Given the description of an element on the screen output the (x, y) to click on. 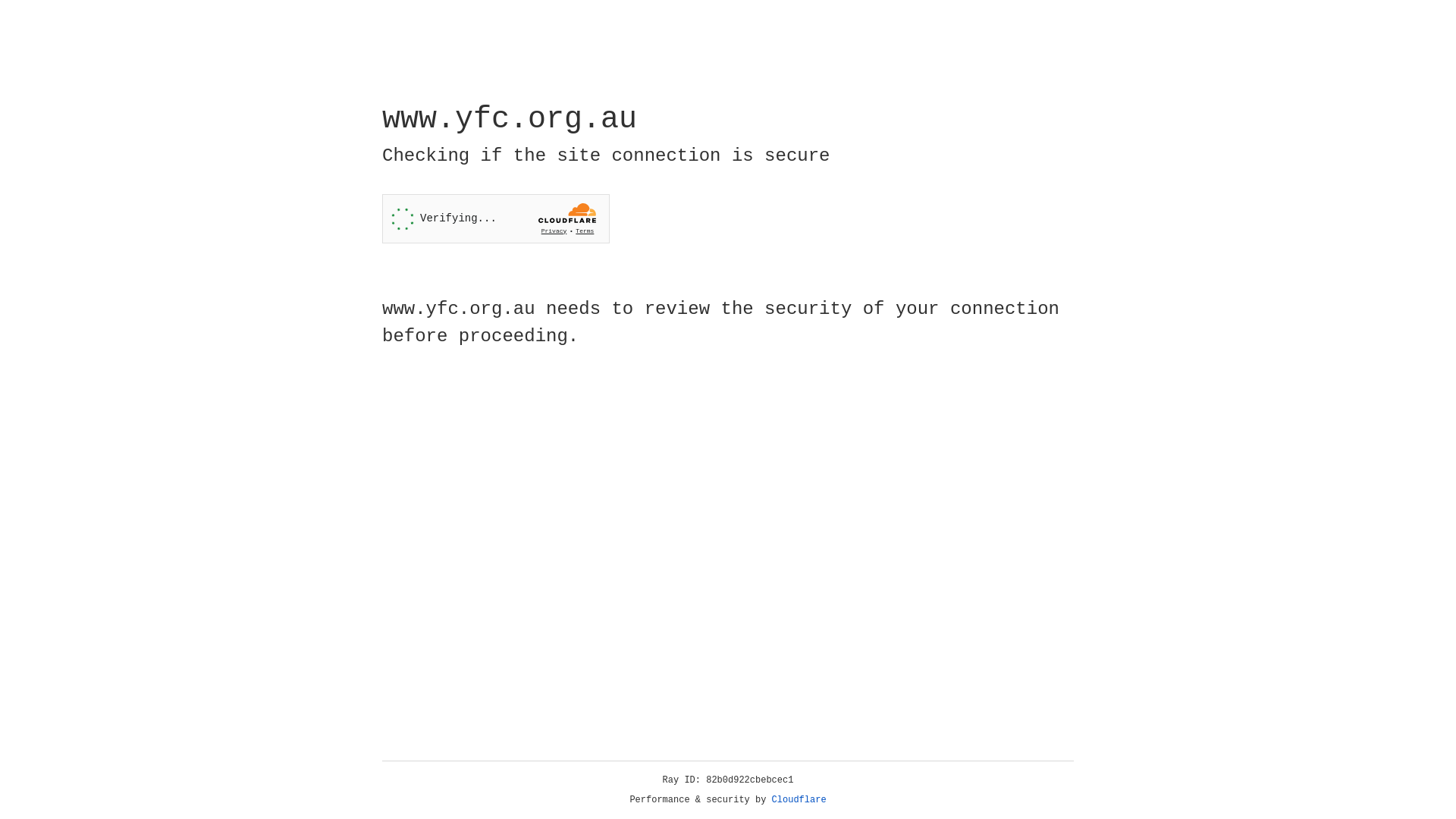
Cloudflare Element type: text (798, 799)
Widget containing a Cloudflare security challenge Element type: hover (495, 218)
